Given the description of an element on the screen output the (x, y) to click on. 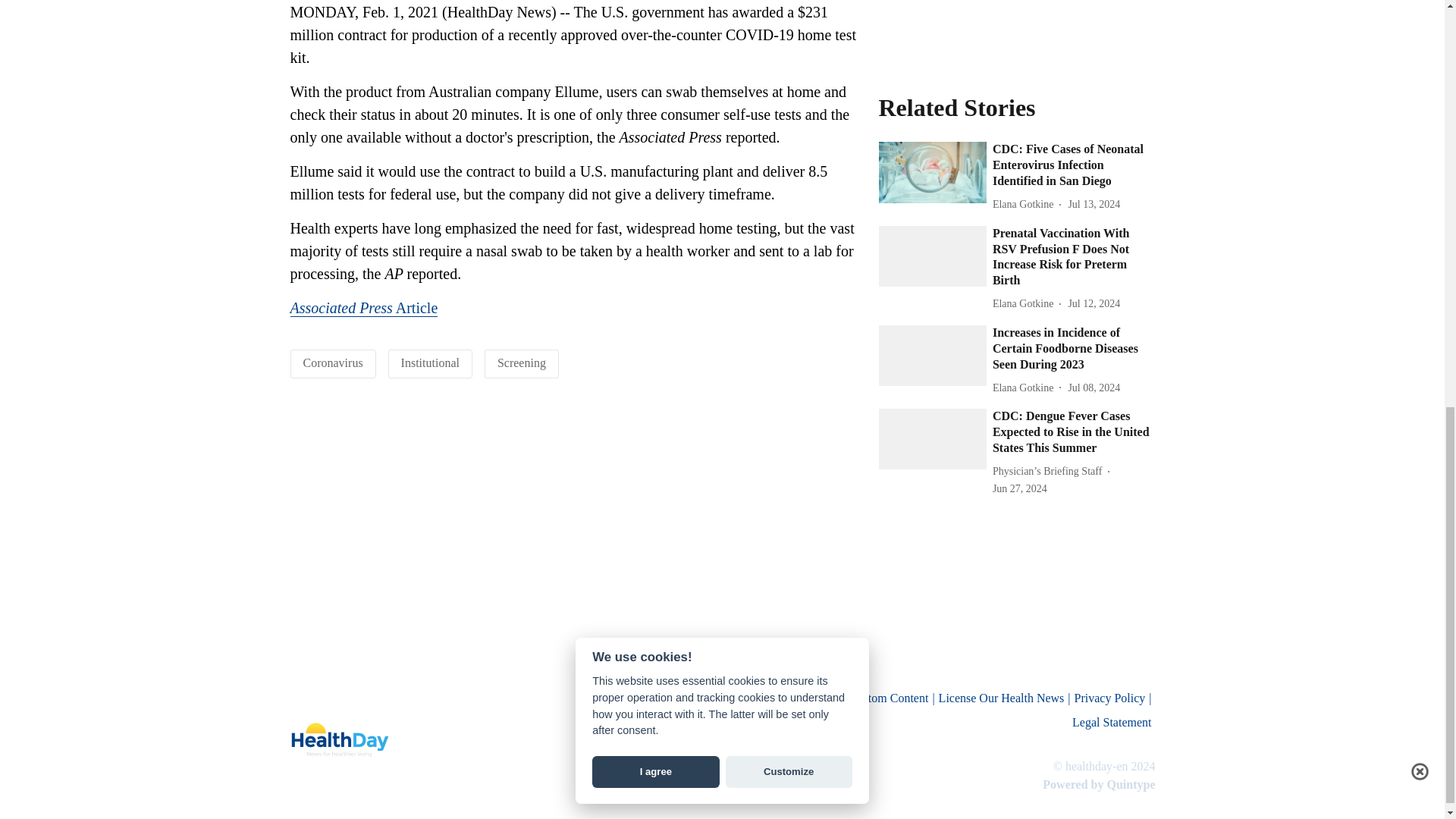
2024-07-12 15:38 (1093, 303)
2024-07-12 22:19 (1093, 204)
2024-07-08 15:34 (1093, 387)
3rd party ad content (1015, 26)
2024-06-26 19:00 (1019, 488)
